Given the description of an element on the screen output the (x, y) to click on. 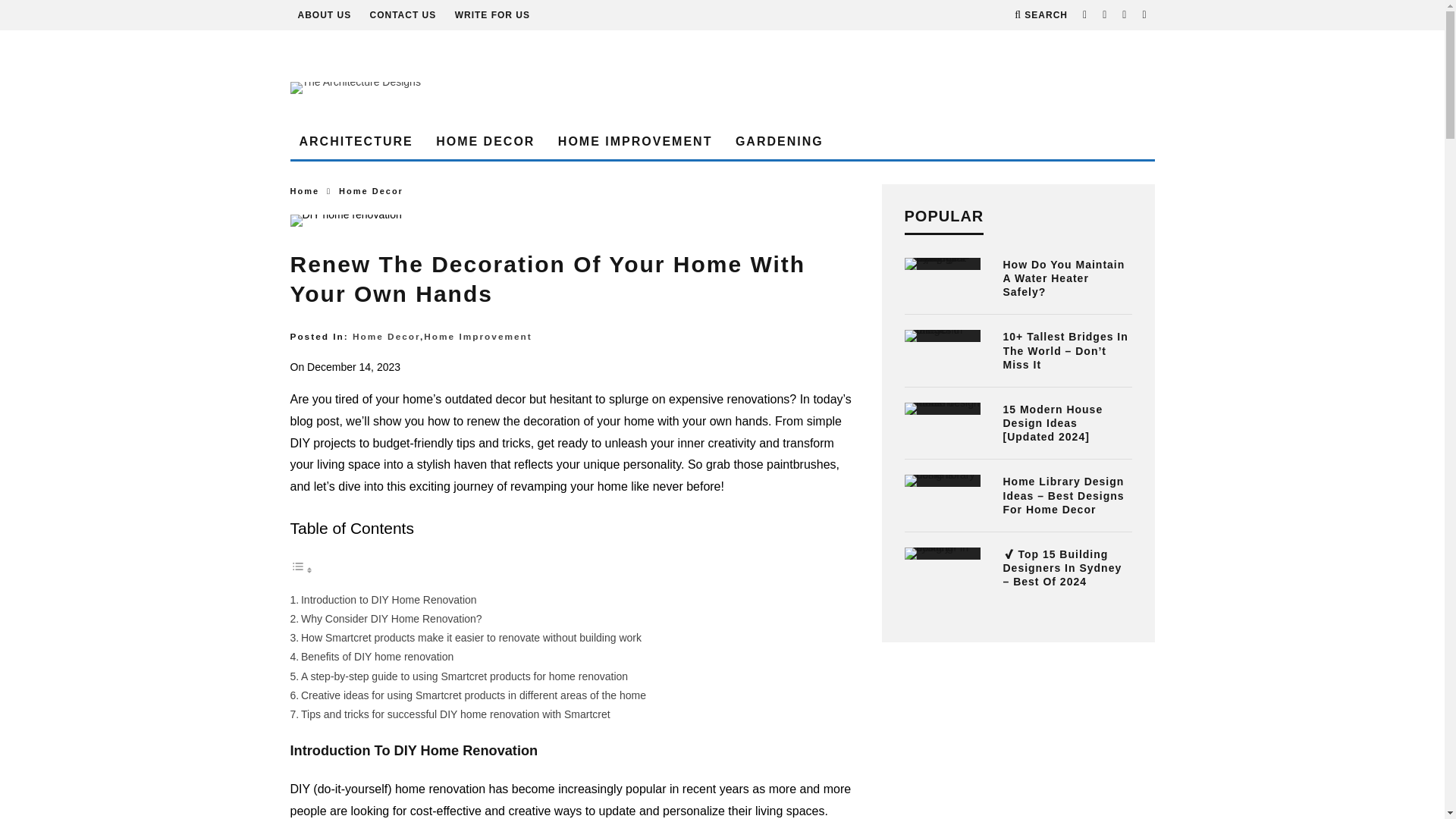
Introduction to DIY Home Renovation (389, 599)
ARCHITECTURE (355, 141)
ABOUT US (323, 15)
WRITE FOR US (491, 15)
Why Consider DIY Home Renovation? (391, 618)
CONTACT US (402, 15)
Search (1040, 15)
SEARCH (1040, 15)
Log In (721, 415)
View all posts in Home Decor (371, 190)
Benefits of DIY home renovation (376, 656)
